Given the description of an element on the screen output the (x, y) to click on. 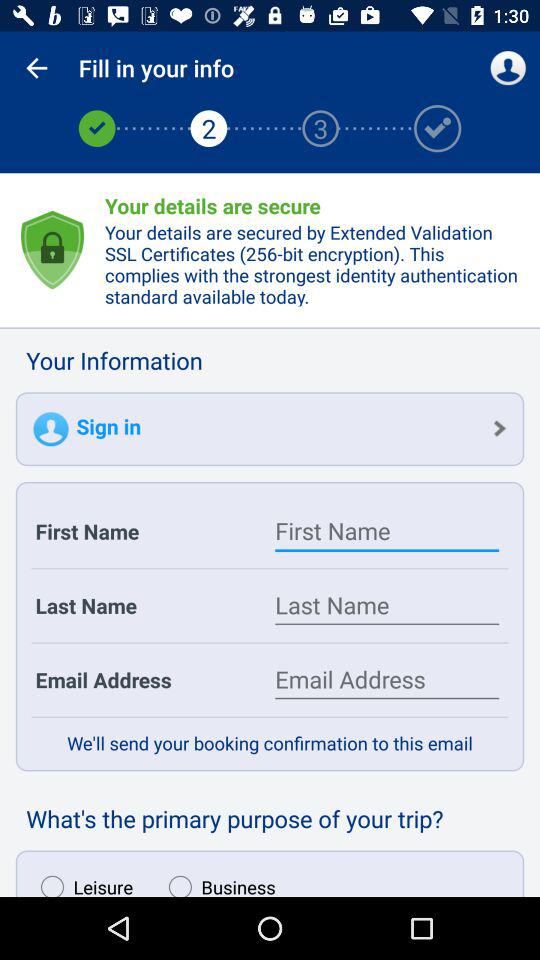
enter email (387, 679)
